Given the description of an element on the screen output the (x, y) to click on. 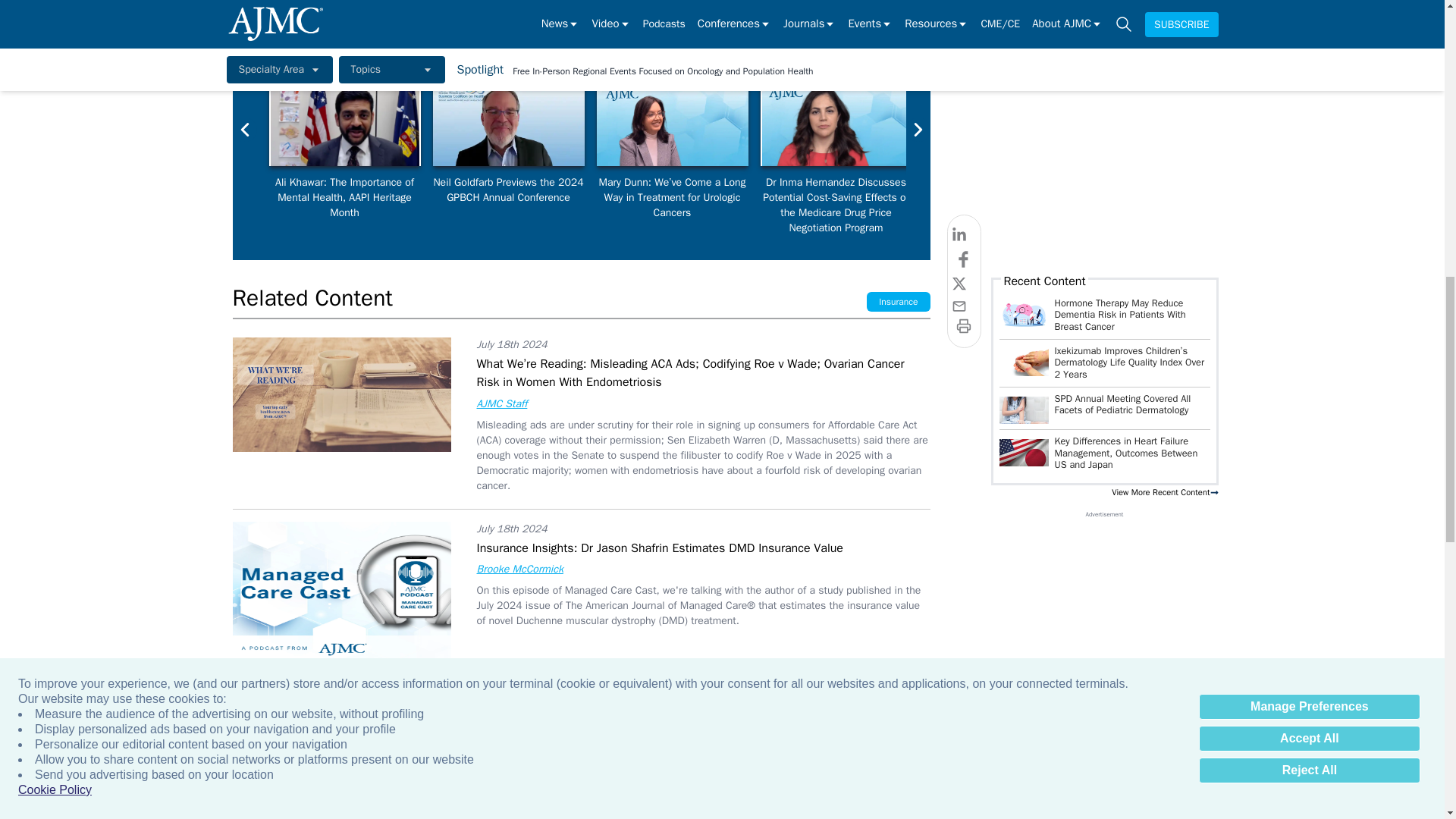
Carrie Kozlowski, OT, MBA (1163, 124)
Carrie Kozlowski, OT, MBA (1326, 124)
Ali Khawar (343, 124)
Carrie Kozlowski (999, 124)
